Given the description of an element on the screen output the (x, y) to click on. 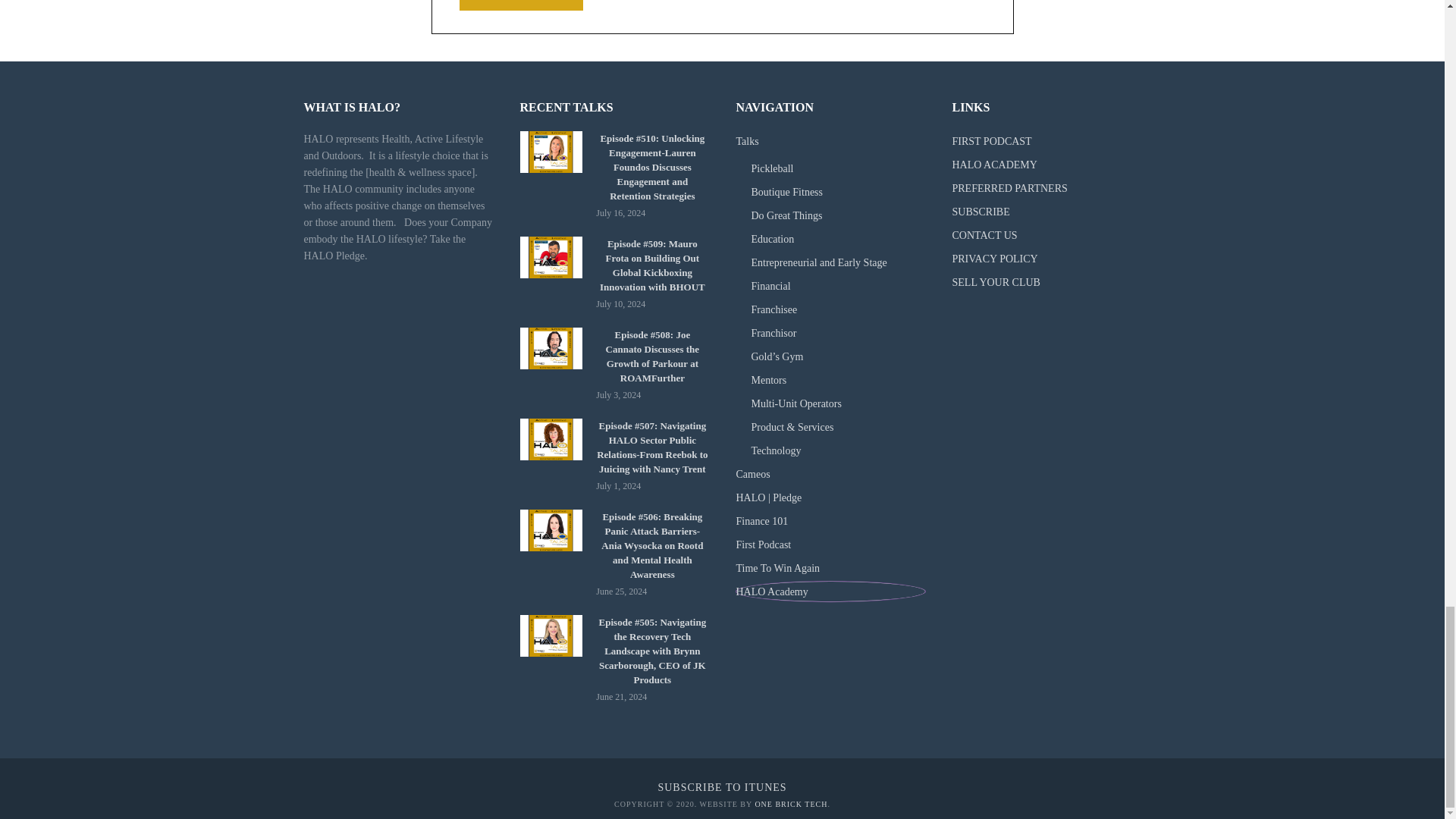
Submit Comment (521, 5)
